Given the description of an element on the screen output the (x, y) to click on. 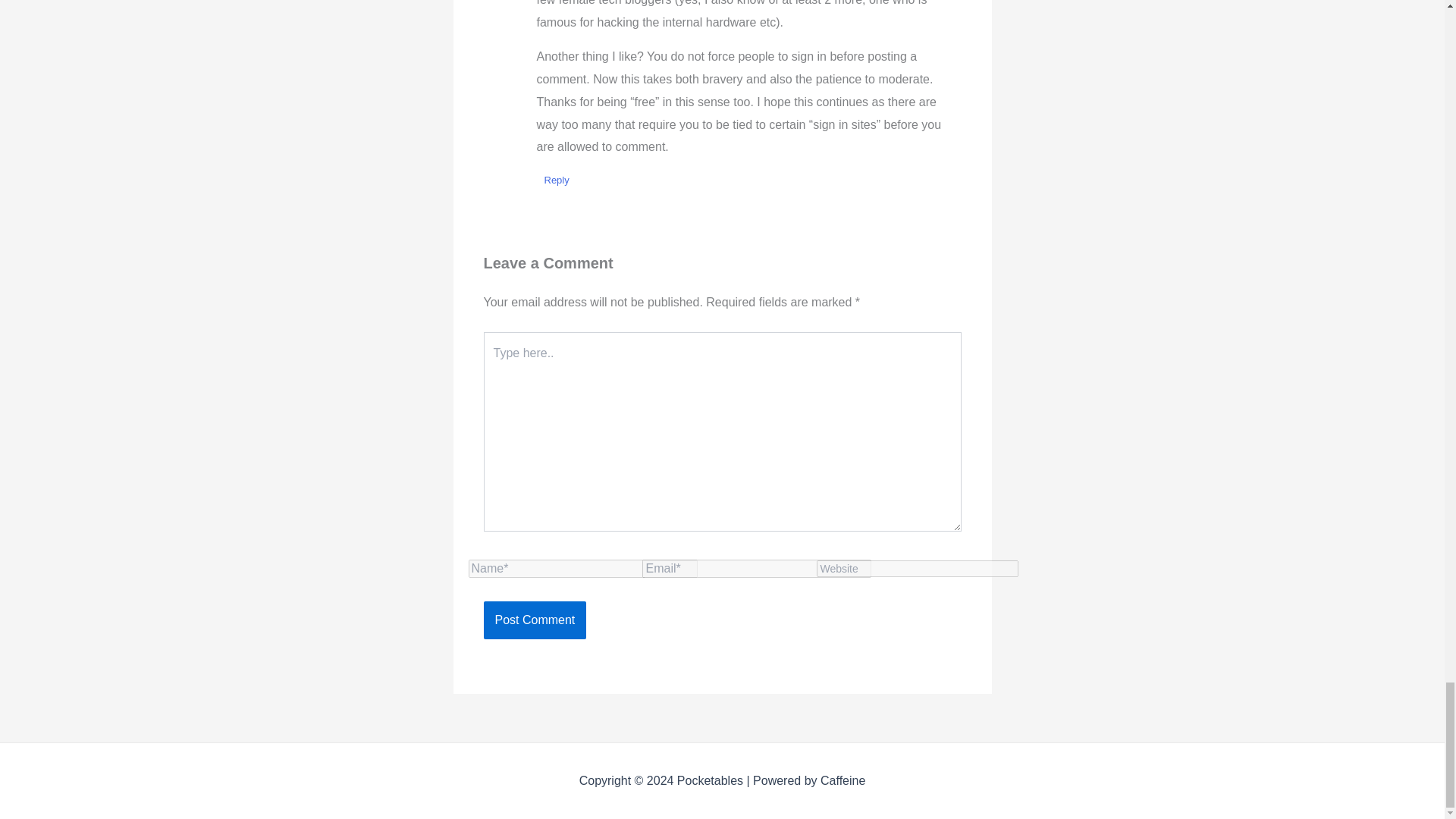
Post Comment (534, 620)
